Given the description of an element on the screen output the (x, y) to click on. 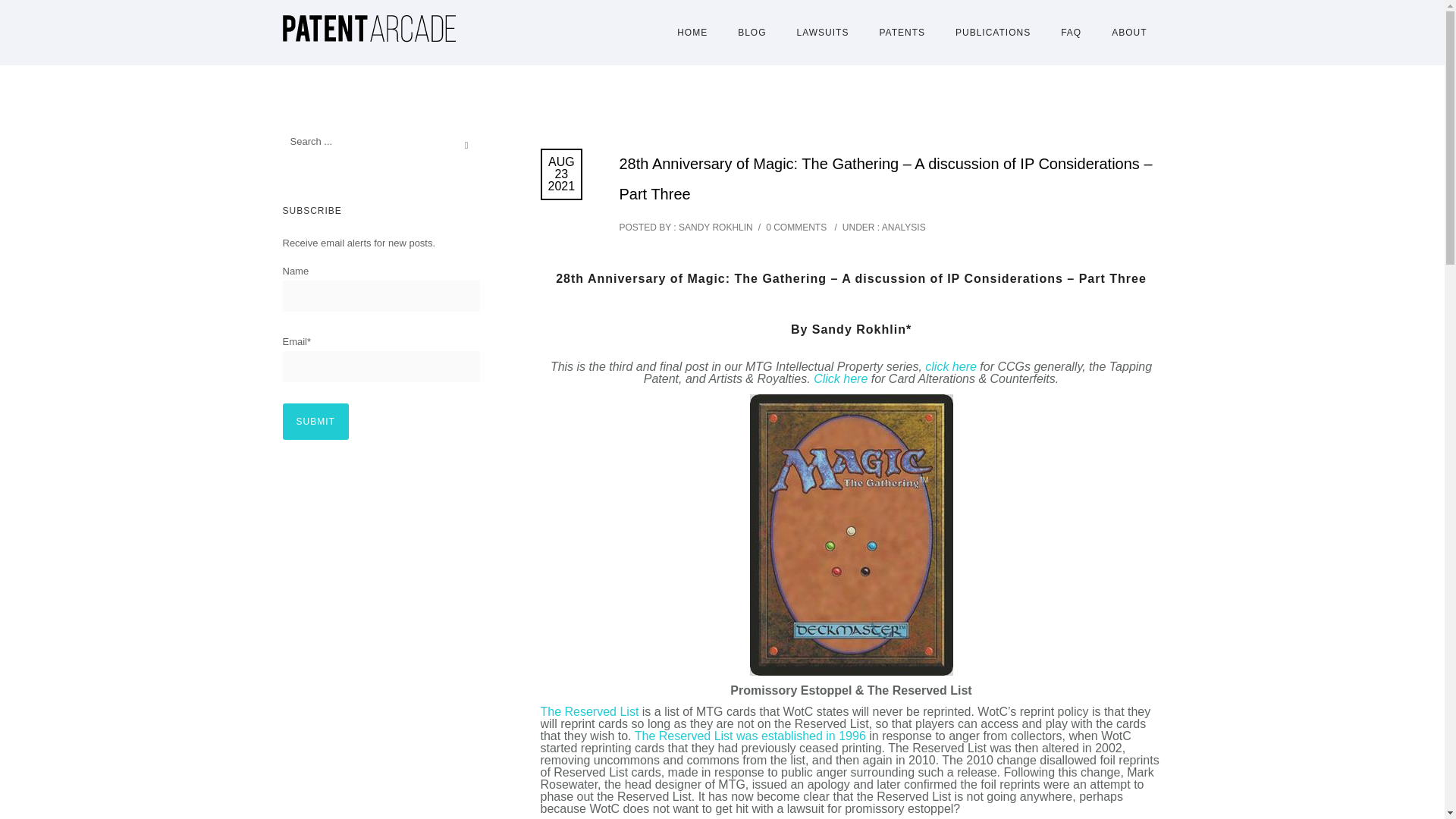
LAWSUITS (822, 32)
ANALYSIS (901, 226)
click here (950, 366)
HOME (692, 32)
Submit (314, 421)
Submit (314, 421)
ABOUT (1128, 32)
Blog (751, 32)
The Reserved List was established in 1996 (750, 735)
PATENTS (901, 32)
Patents (901, 32)
PUBLICATIONS (992, 32)
0 COMMENTS (796, 226)
FAQ (1070, 32)
Lawsuits (822, 32)
